Given the description of an element on the screen output the (x, y) to click on. 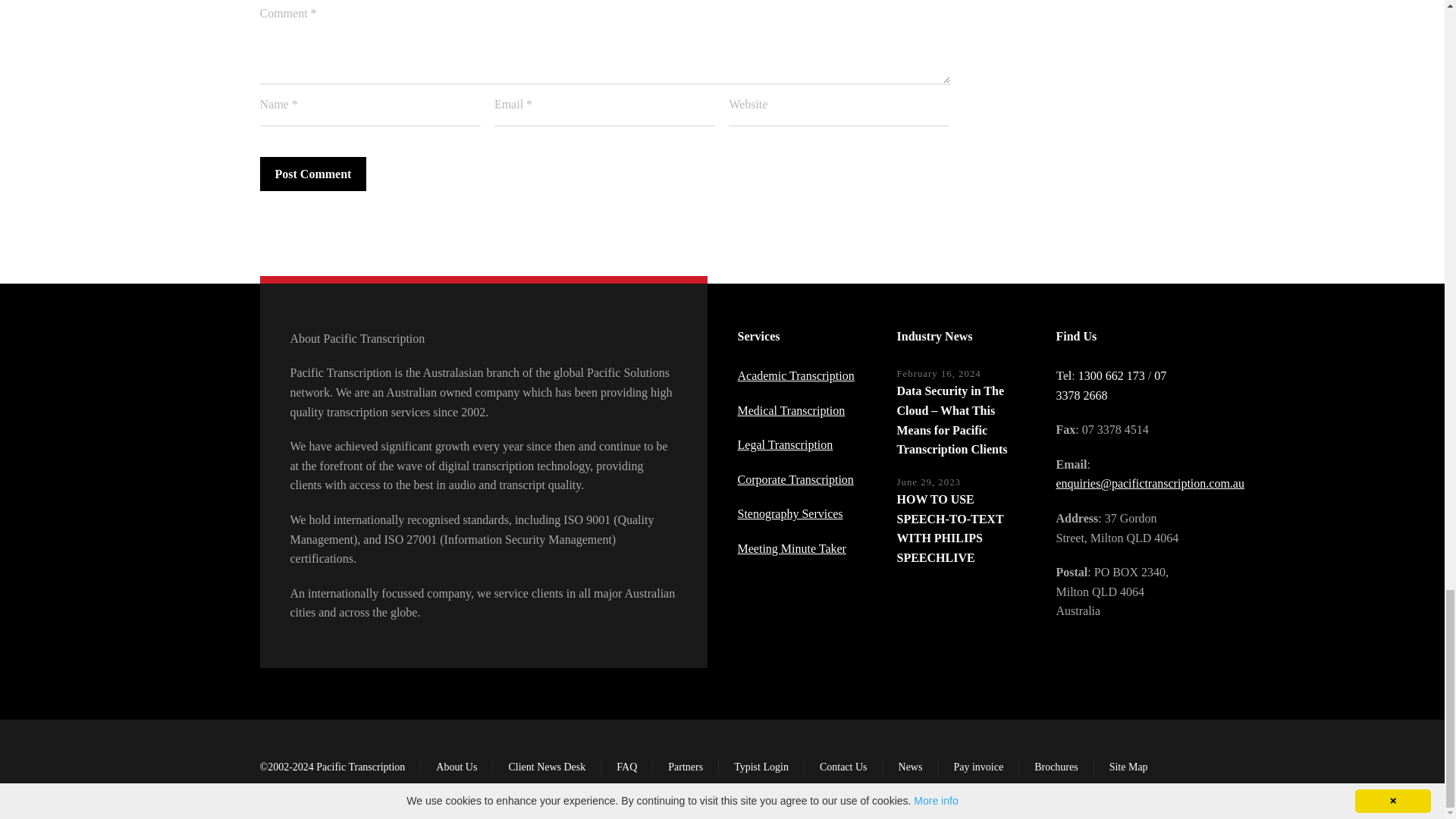
Post Comment (312, 173)
